Given the description of an element on the screen output the (x, y) to click on. 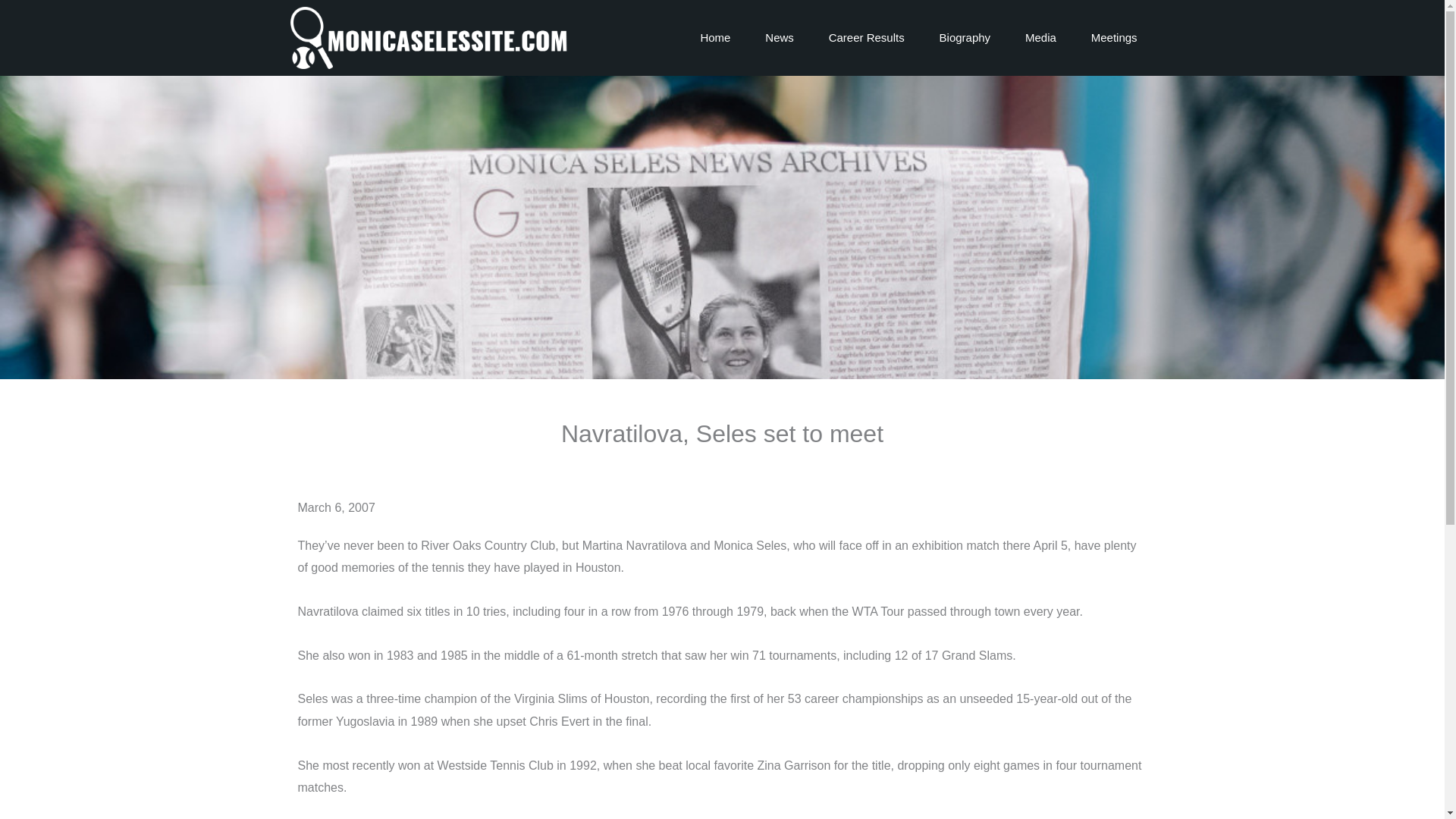
Career Results (865, 38)
Meetings (1114, 38)
Biography (964, 38)
